Given the description of an element on the screen output the (x, y) to click on. 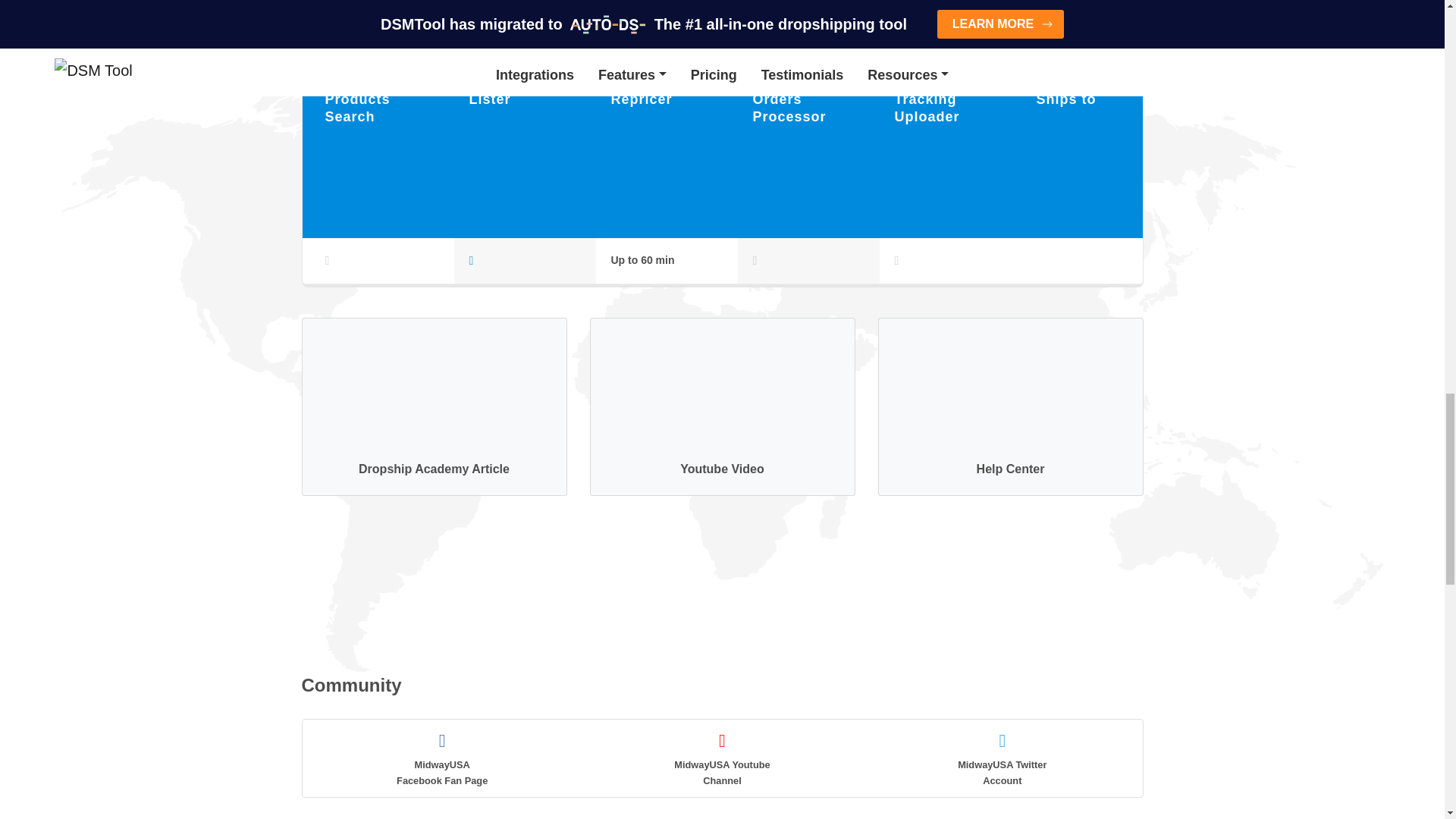
Orders Processor (796, 107)
MidwayUSA Facebook Fan Page (441, 757)
Products Search (357, 107)
MidwayUSA Youtube Channel (722, 757)
Tracking Uploader (927, 107)
MidwayUSA Twitter Account (1002, 757)
Repricer (641, 99)
Lister (489, 99)
Go to DSM Tool (415, 582)
Dropship Academy Article (433, 406)
